Given the description of an element on the screen output the (x, y) to click on. 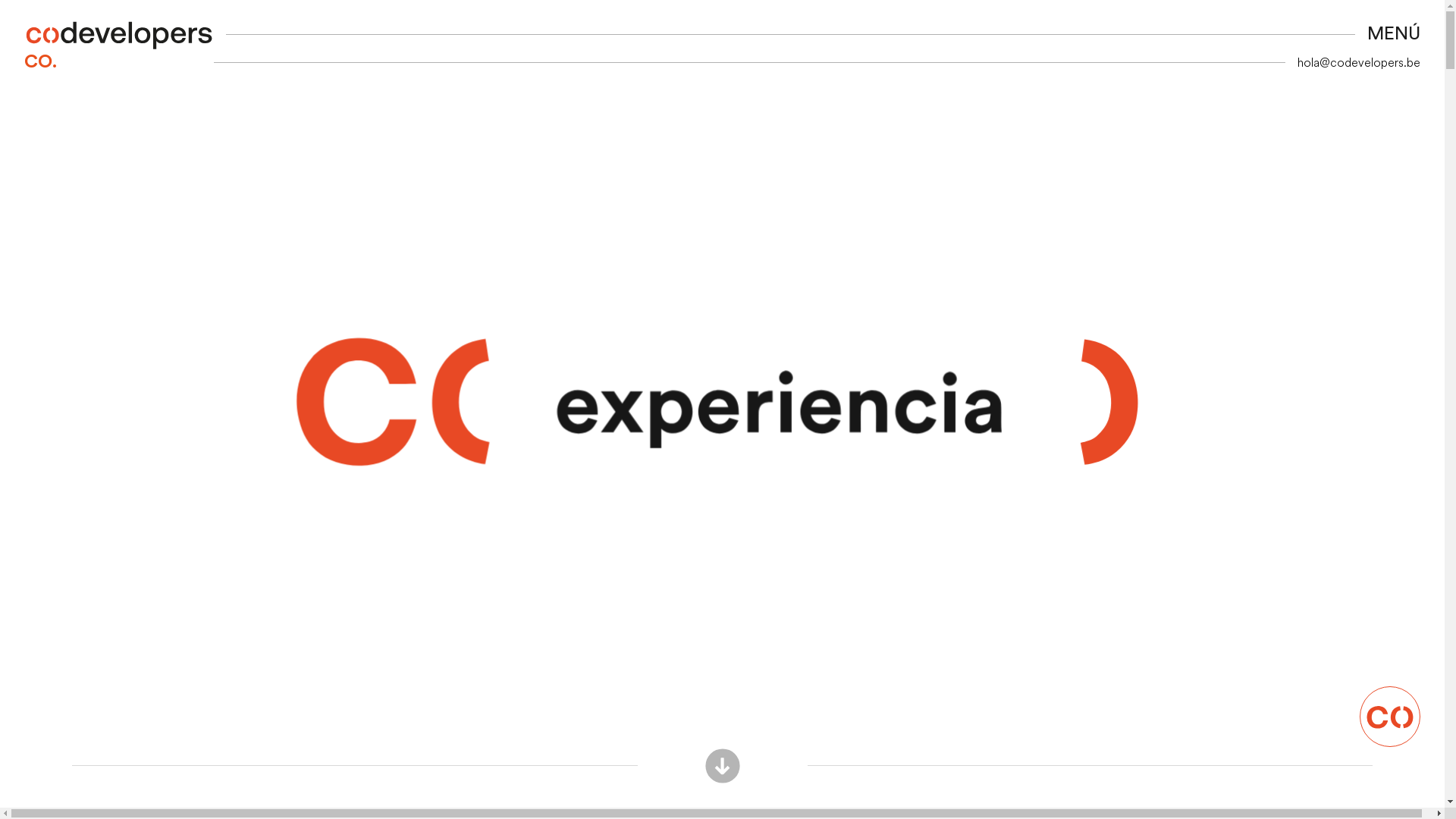
hola@codevelopers.be Element type: text (1358, 61)
